Given the description of an element on the screen output the (x, y) to click on. 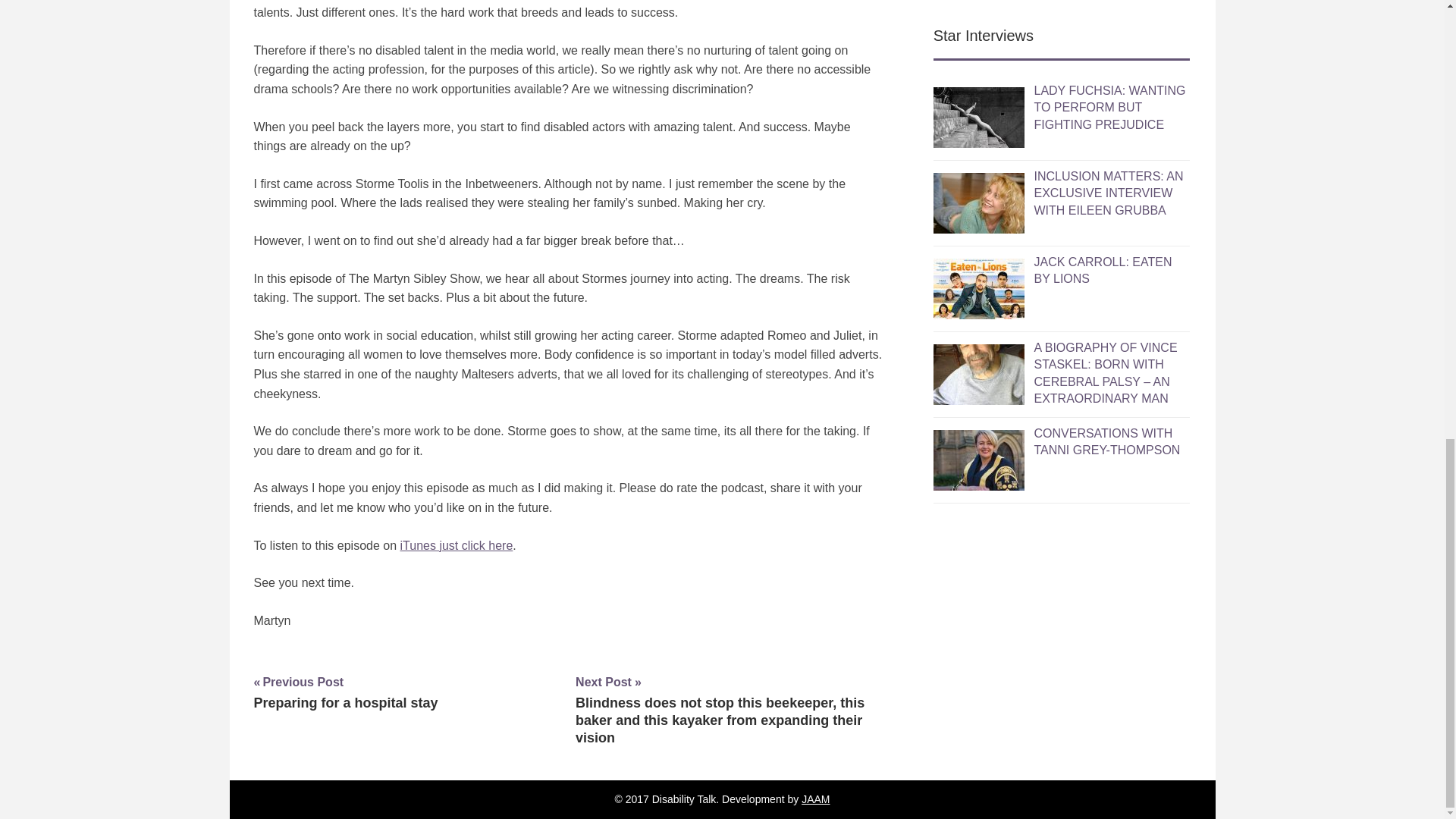
CONVERSATIONS WITH TANNI GREY-THOMPSON (1106, 383)
JAAM (815, 799)
JACK CARROLL: EATEN BY LIONS (1102, 212)
JACK CARROLL: EATEN BY LIONS (1102, 212)
INCLUSION MATTERS: AN EXCLUSIVE INTERVIEW WITH EILEEN GRUBBA (1107, 135)
LADY FUCHSIA: WANTING TO PERFORM BUT FIGHTING PREJUDICE (1109, 49)
iTunes just click here (456, 545)
INCLUSION MATTERS: AN EXCLUSIVE INTERVIEW WITH EILEEN GRUBBA (345, 691)
